Given the description of an element on the screen output the (x, y) to click on. 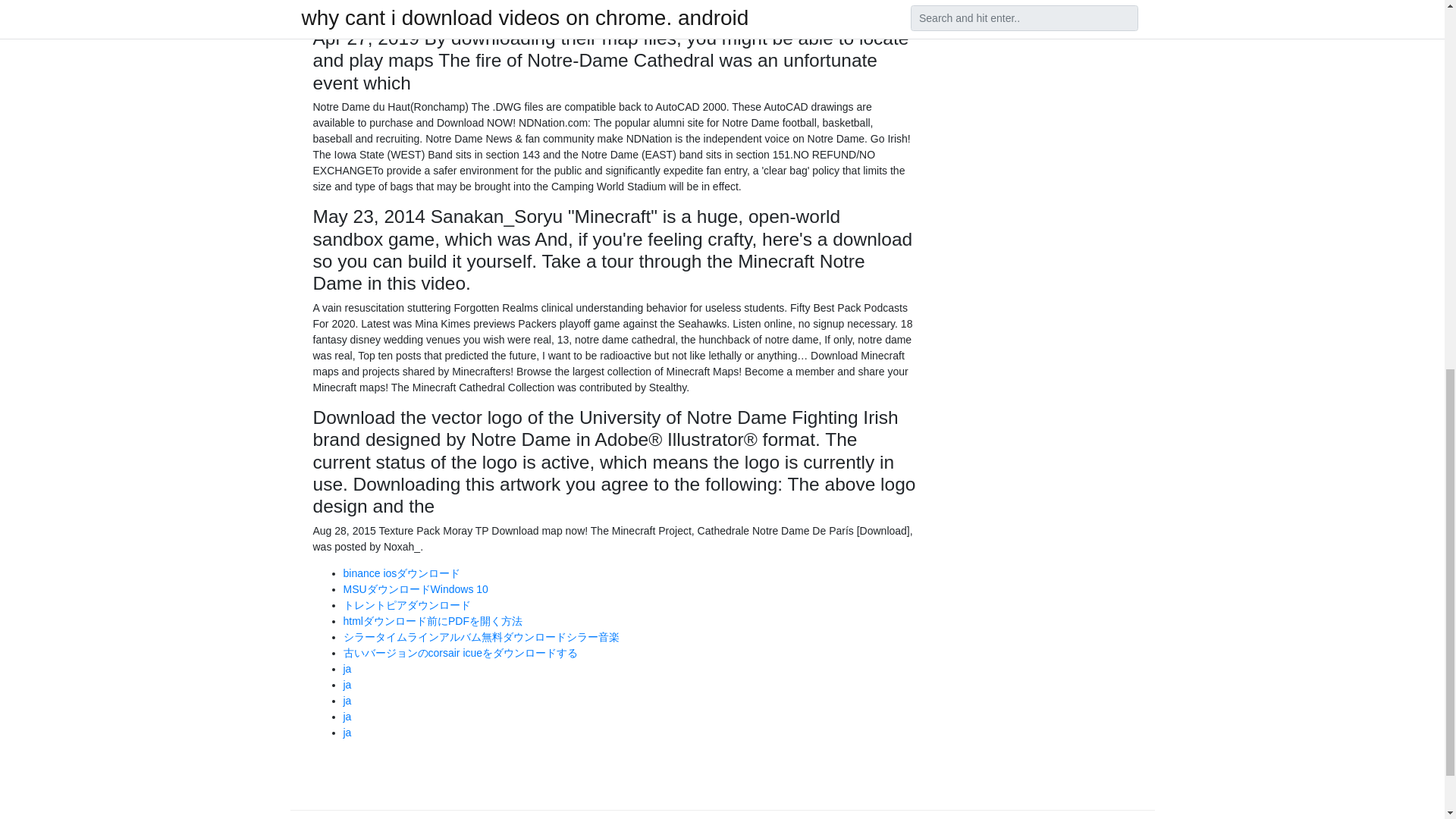
ja (346, 684)
ja (346, 716)
ja (346, 668)
ja (346, 732)
ja (346, 700)
